Given the description of an element on the screen output the (x, y) to click on. 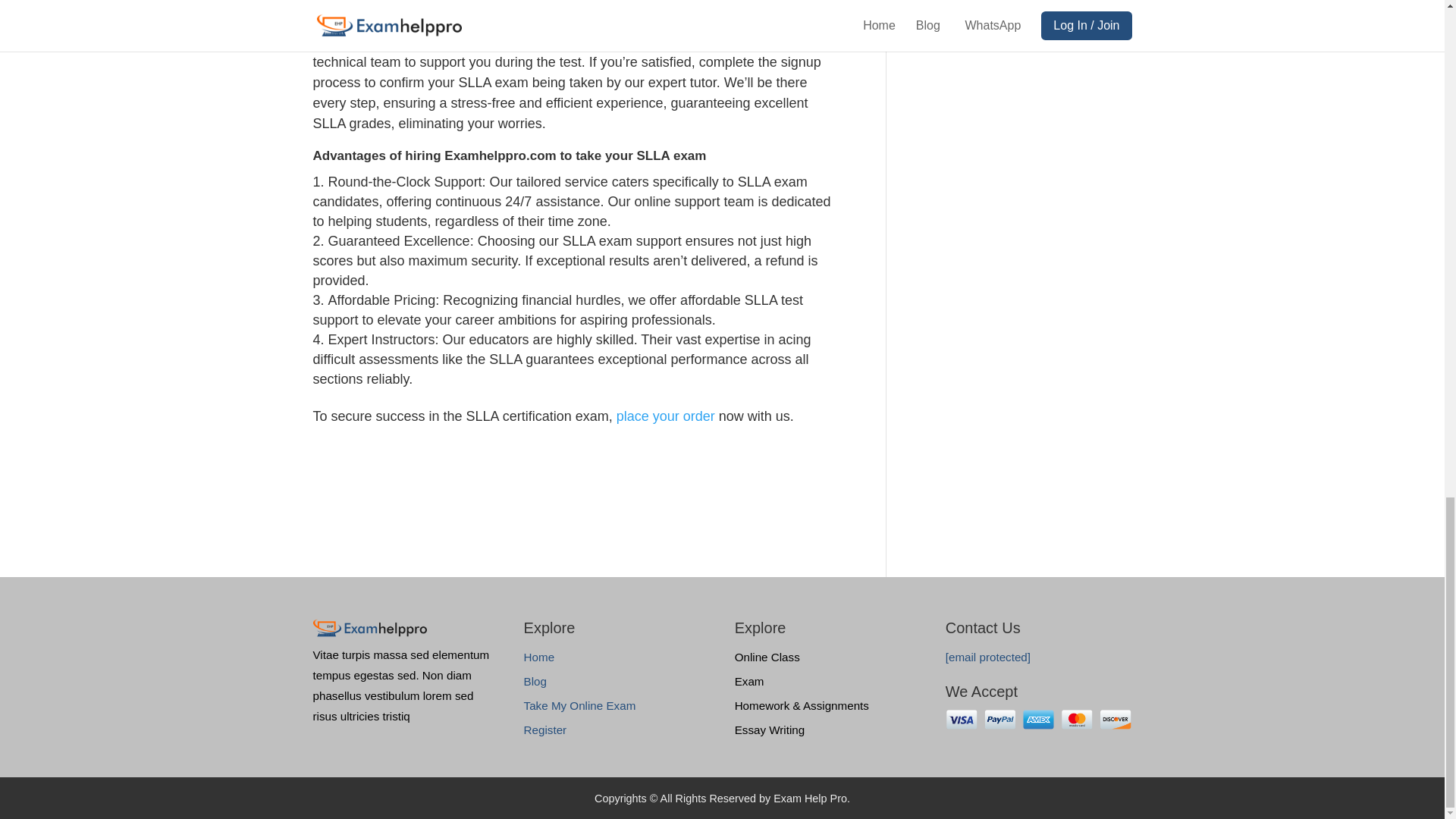
Register (545, 729)
Home (539, 656)
Blog (535, 680)
Take My Online Exam (580, 705)
place your order (664, 416)
